Given the description of an element on the screen output the (x, y) to click on. 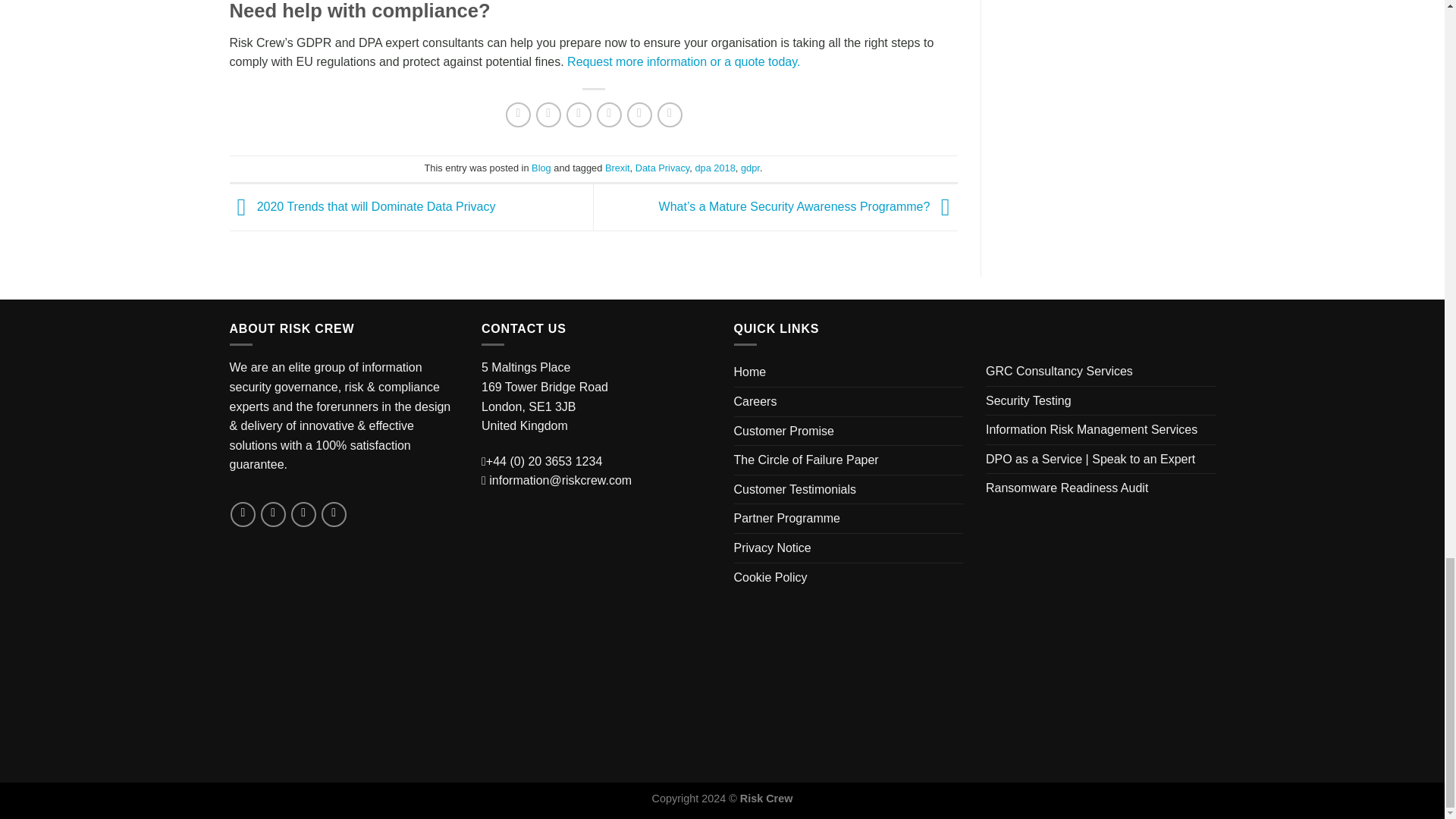
Share on Facebook (518, 114)
Email to a Friend (578, 114)
Share on Twitter (547, 114)
Follow on Twitter (272, 514)
Pin on Pinterest (608, 114)
Follow on YouTube (333, 514)
Follow on Facebook (243, 514)
Share on Tumblr (670, 114)
Follow on LinkedIn (303, 514)
Share on LinkedIn (639, 114)
